Given the description of an element on the screen output the (x, y) to click on. 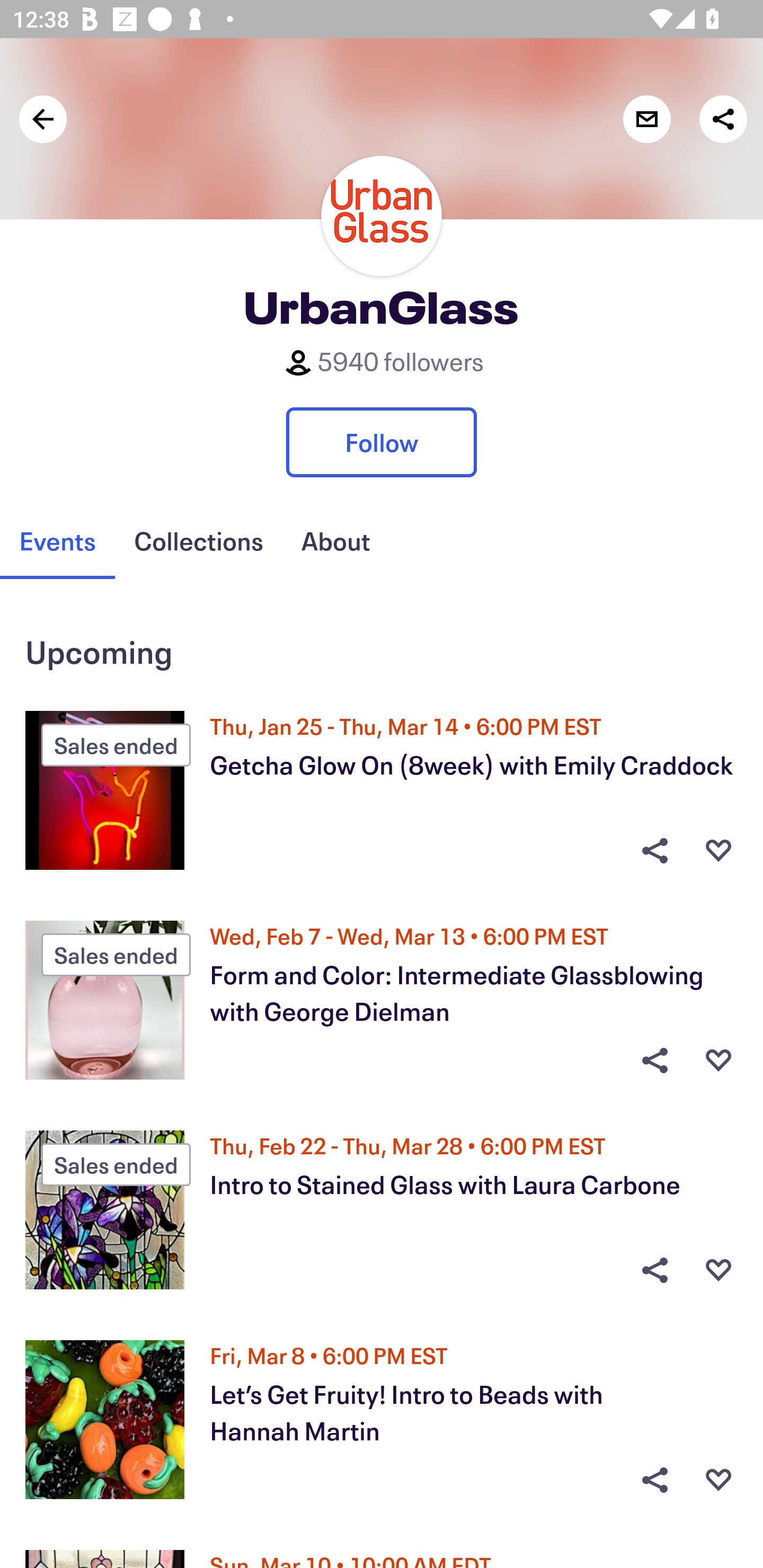
Back navigation arrow (43, 118)
Contact organizer (646, 118)
Share with friends (722, 118)
Follow (381, 441)
Collections (198, 540)
About (335, 540)
Share Event (654, 850)
Like event (718, 850)
Share Event (654, 1060)
Like event (718, 1060)
Share Event (654, 1269)
Like event (718, 1269)
Share Event (654, 1480)
Like event (718, 1480)
